Given the description of an element on the screen output the (x, y) to click on. 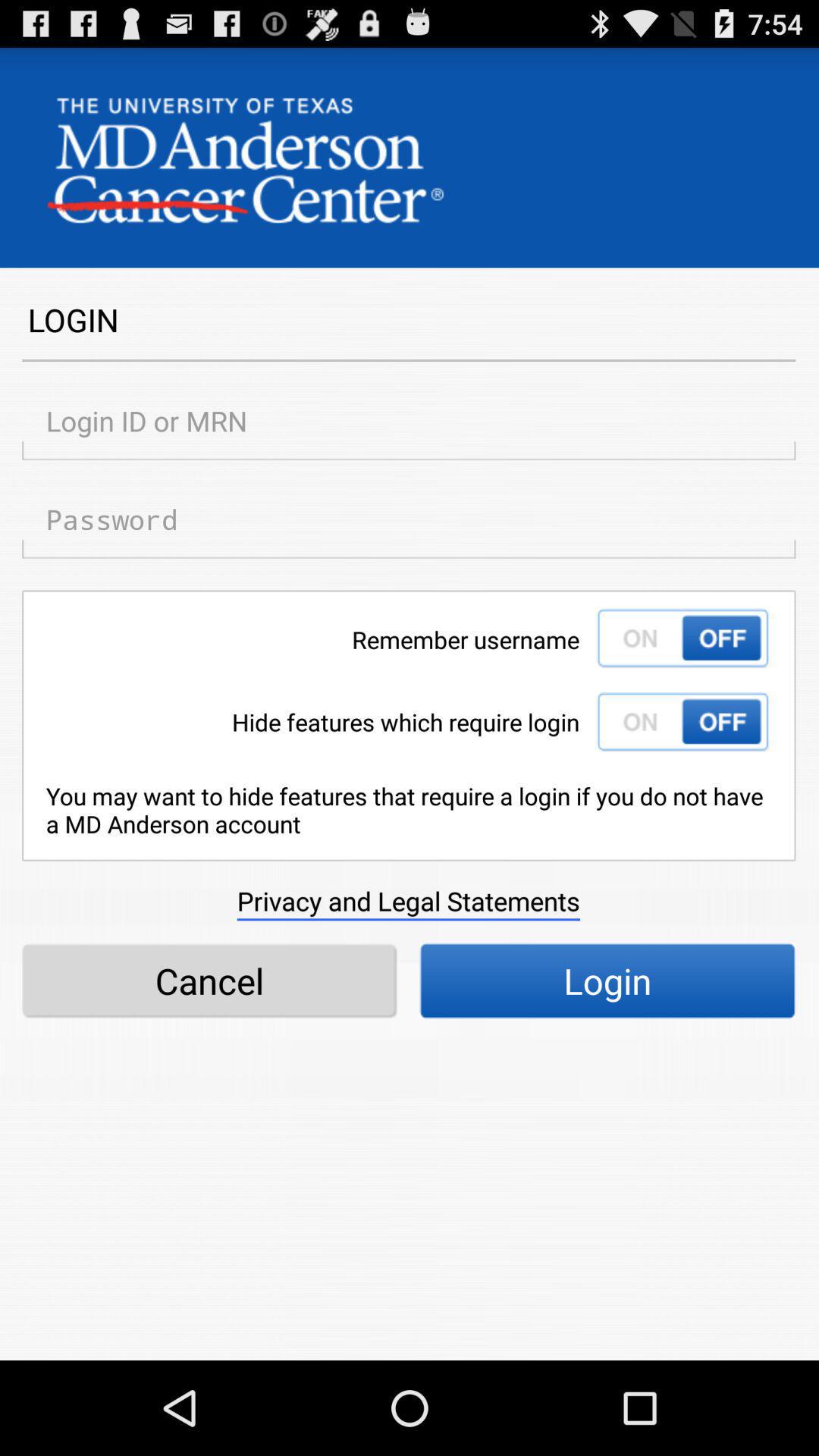
tap cancel icon (209, 980)
